Given the description of an element on the screen output the (x, y) to click on. 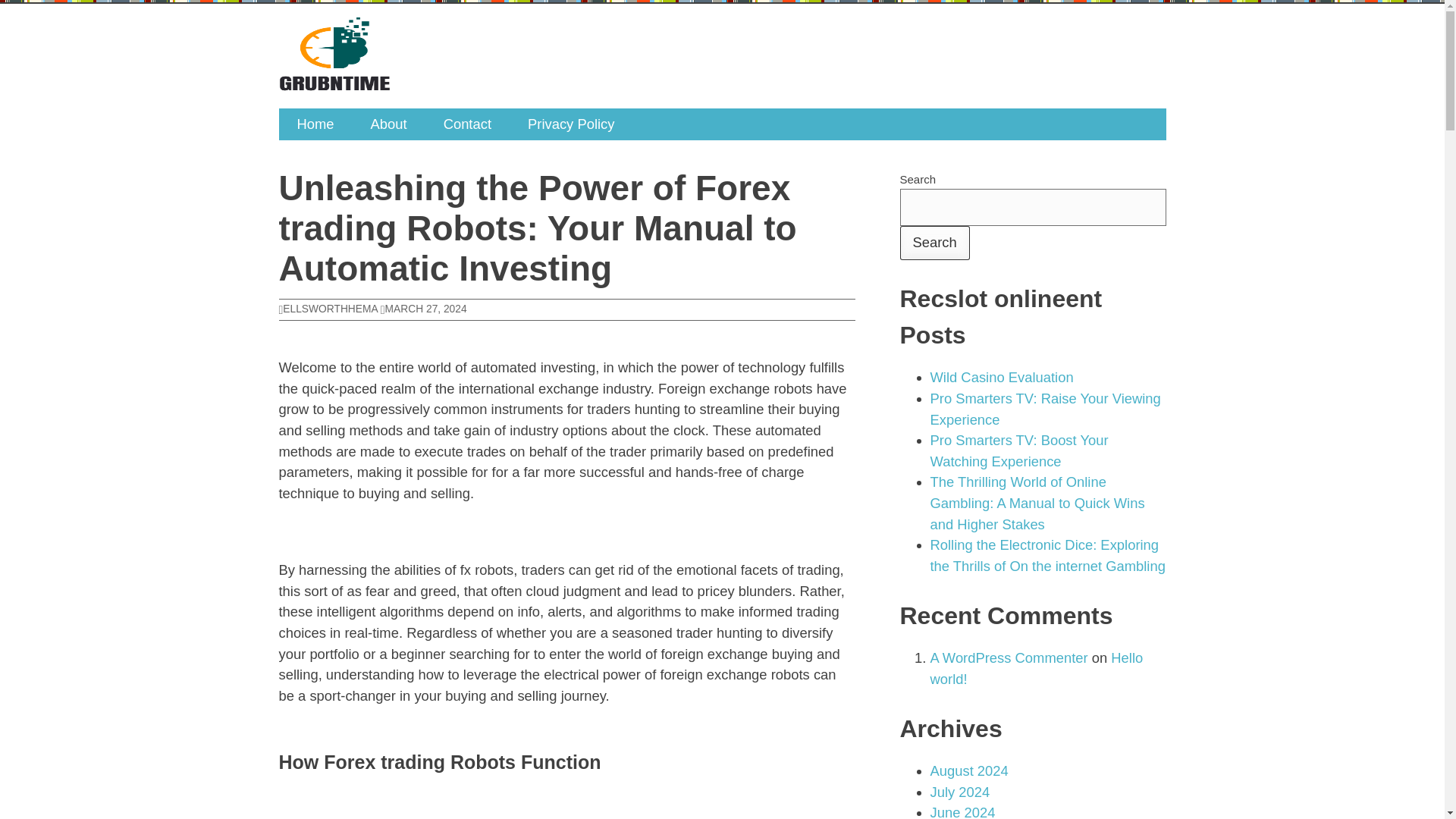
June 2024 (962, 811)
August 2024 (968, 770)
A WordPress Commenter (1008, 657)
MARCH 27, 2024 (423, 308)
Search (934, 242)
Contact (467, 124)
Hello world! (1036, 668)
Home (315, 124)
